Given the description of an element on the screen output the (x, y) to click on. 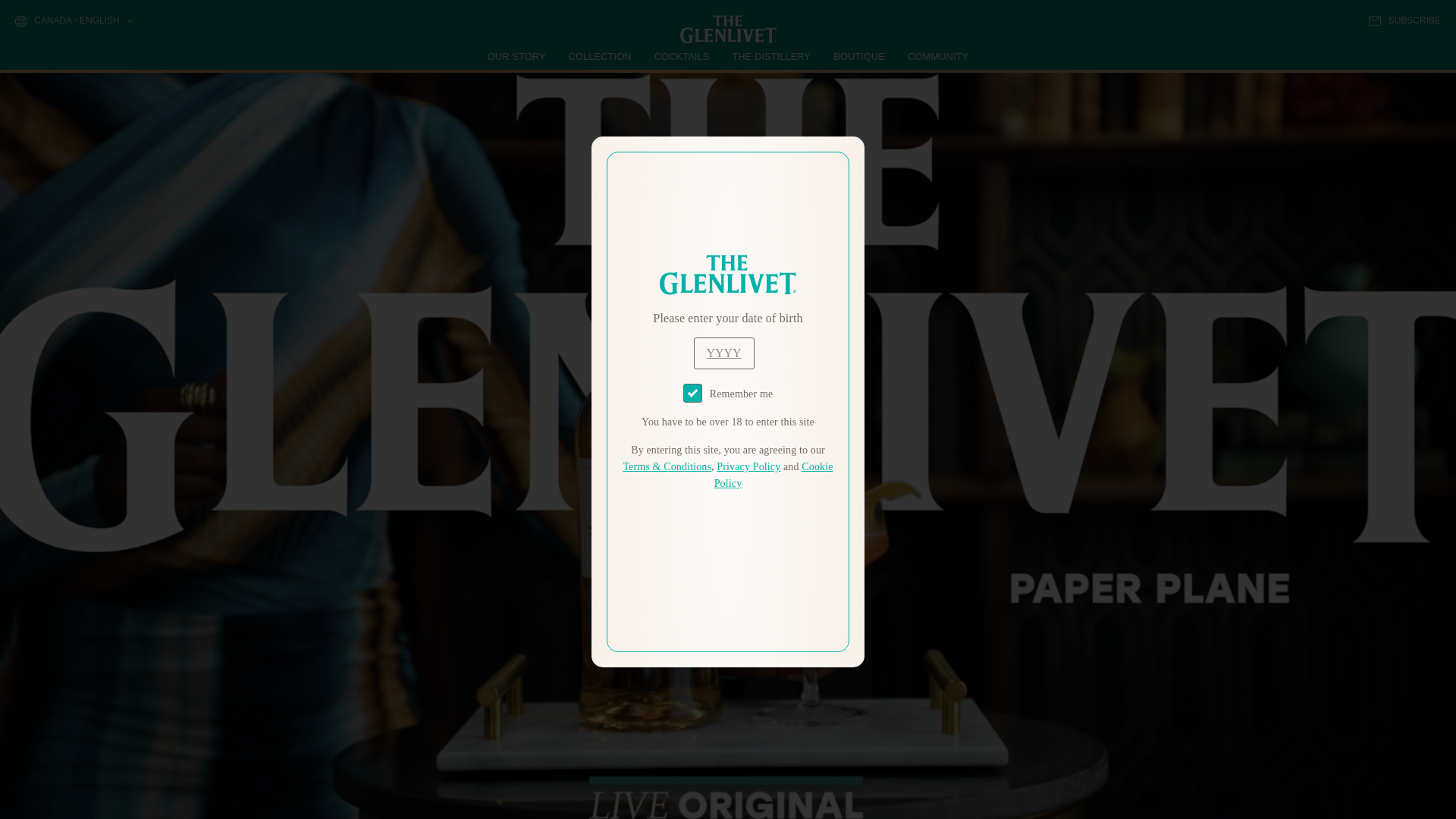
OUR STORY (516, 56)
CANADA - ENGLISH (73, 21)
Privacy Policy (748, 466)
THE DISTILLERY (771, 56)
BOUTIQUE (858, 56)
SUBSCRIBE (1404, 20)
COMMUNITY (937, 56)
COCKTAILS (681, 56)
Cookie Policy (773, 474)
year (723, 353)
